Given the description of an element on the screen output the (x, y) to click on. 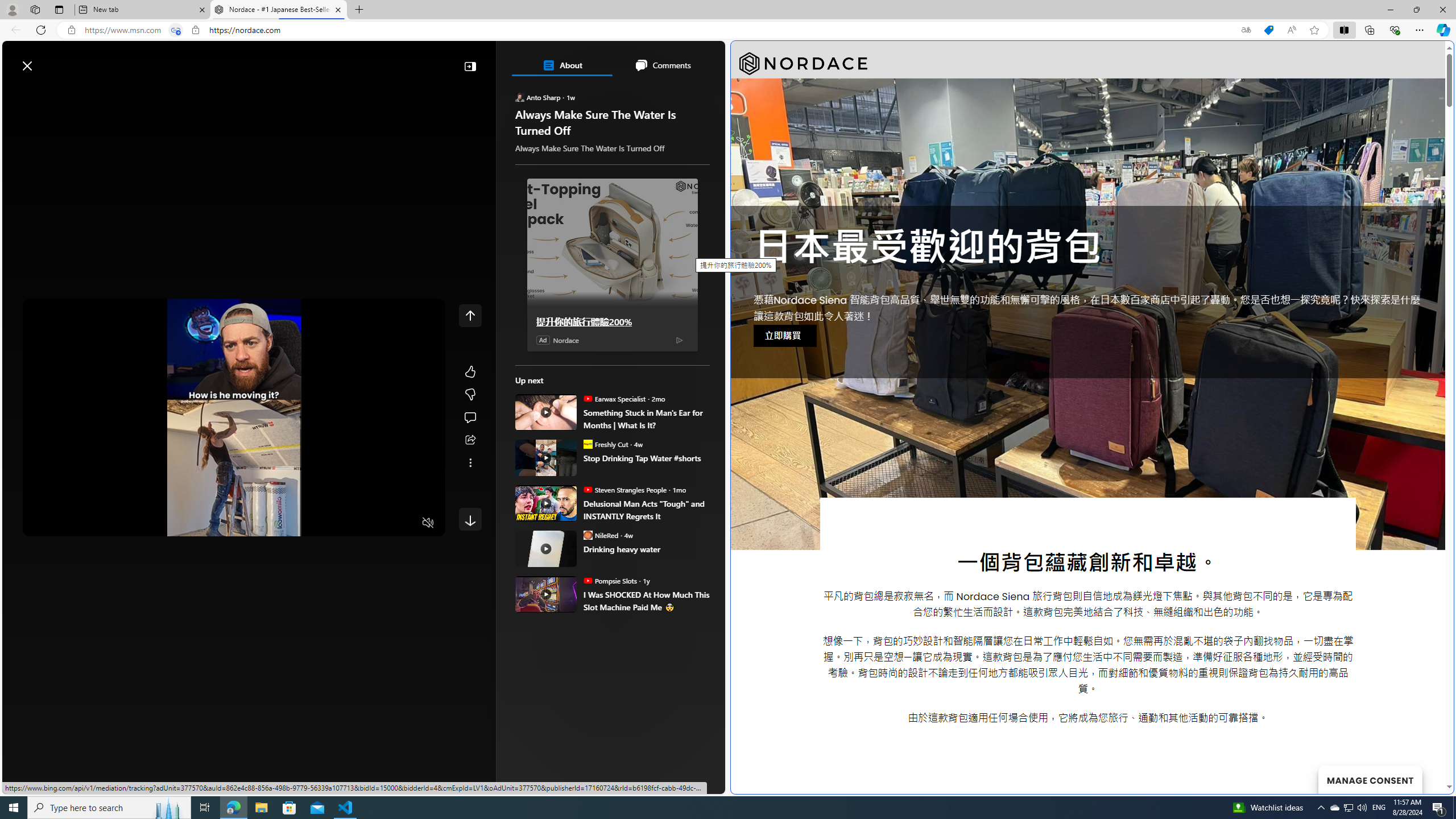
Something Stuck in Man's Ear for Months | What Is It? (545, 411)
Earwax Specialist (587, 397)
Unmute (427, 523)
Microsoft rewards (654, 60)
Class: control (469, 518)
Dislike (469, 394)
Ad Choice (678, 339)
ABC News (554, 415)
Steven Strangles People (587, 488)
Watch (145, 92)
